Given the description of an element on the screen output the (x, y) to click on. 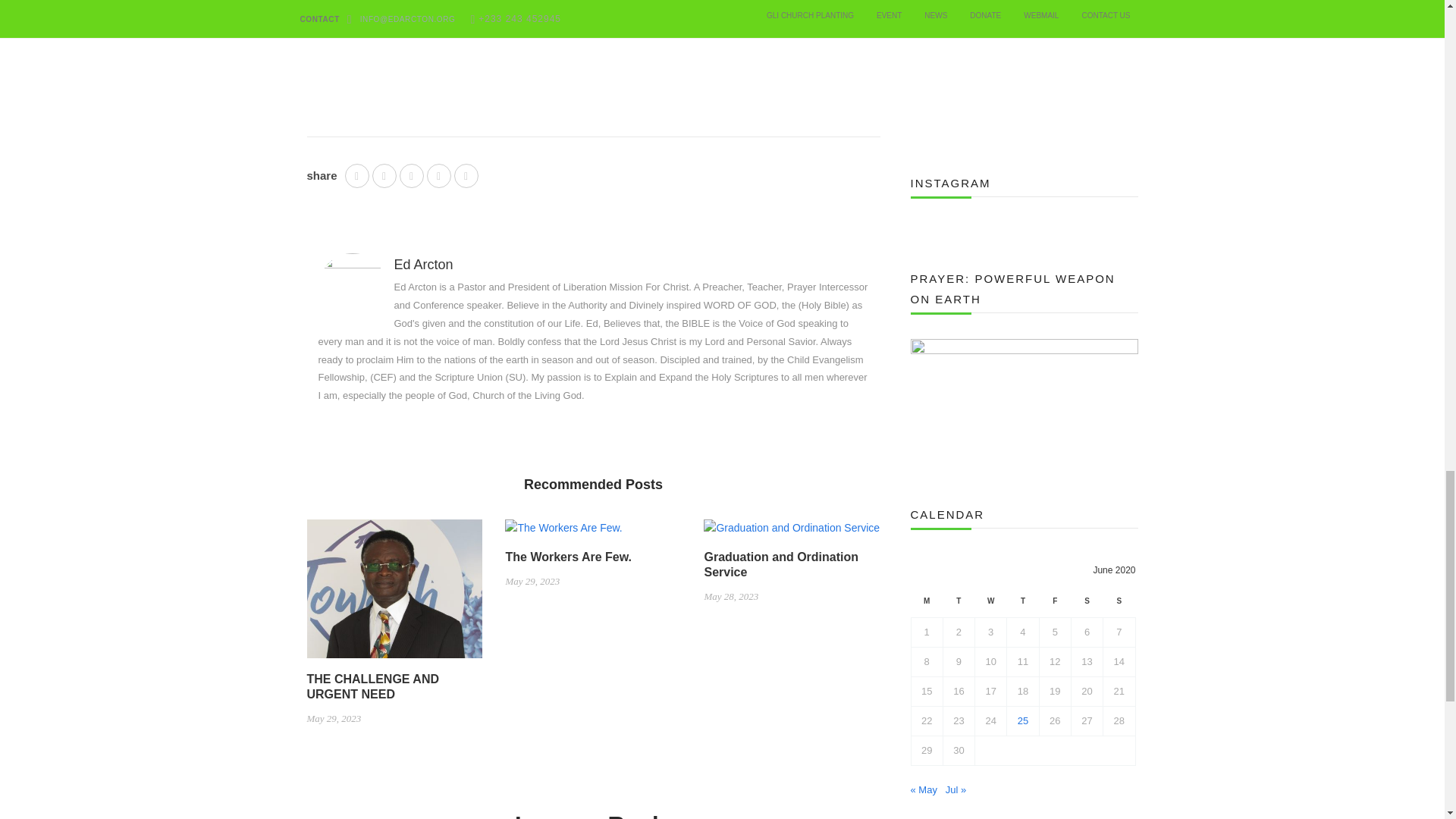
THE CHALLENGE AND URGENT NEED (393, 594)
Graduation and Ordination Service (791, 533)
The Workers Are Few. (563, 533)
Understanding the Times (592, 45)
Posts by Ed Arcton (423, 264)
